Given the description of an element on the screen output the (x, y) to click on. 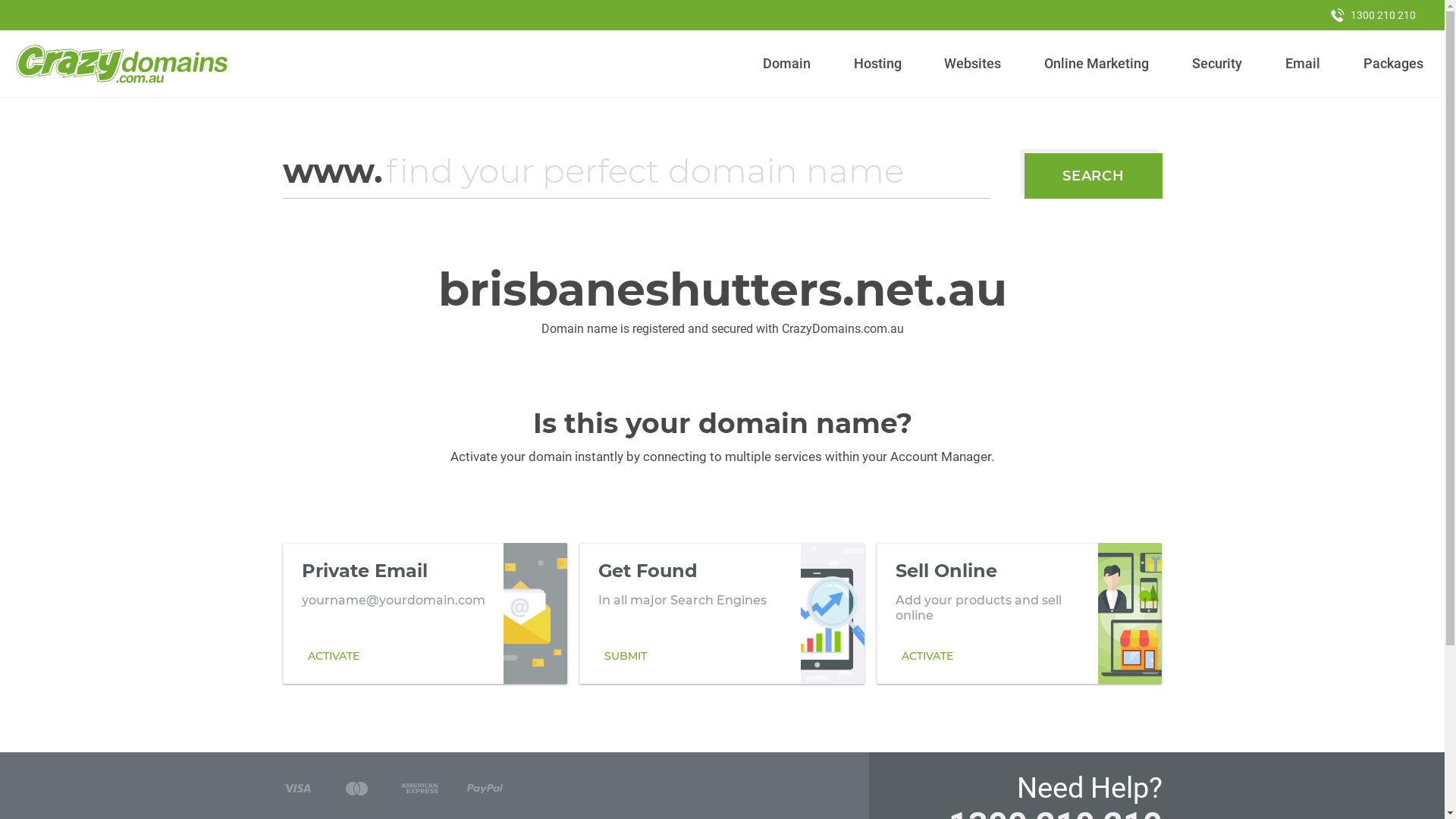
Email Element type: text (1302, 63)
Sell Online
Add your products and sell online
ACTIVATE Element type: text (1018, 613)
SEARCH Element type: text (1092, 175)
Security Element type: text (1217, 63)
Packages Element type: text (1392, 63)
Hosting Element type: text (877, 63)
1300 210 210 Element type: text (1373, 15)
Get Found
In all major Search Engines
SUBMIT Element type: text (721, 613)
Private Email
yourname@yourdomain.com
ACTIVATE Element type: text (424, 613)
Websites Element type: text (972, 63)
Online Marketing Element type: text (1096, 63)
Domain Element type: text (786, 63)
